Given the description of an element on the screen output the (x, y) to click on. 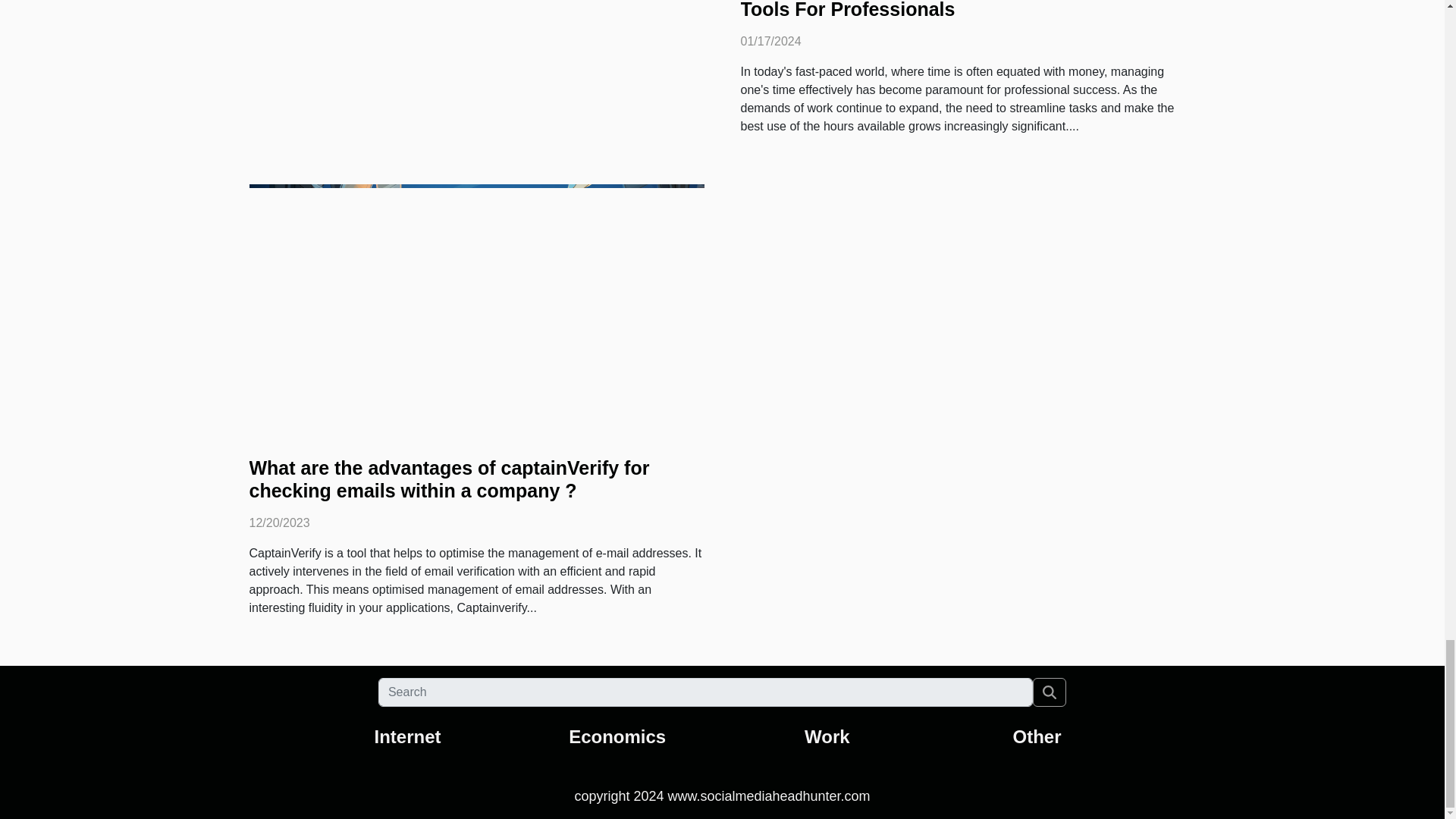
Work (827, 736)
Other (1037, 736)
Work (827, 736)
Economics (617, 736)
Other (1037, 736)
Economics (617, 736)
Internet (407, 736)
Internet (407, 736)
